Given the description of an element on the screen output the (x, y) to click on. 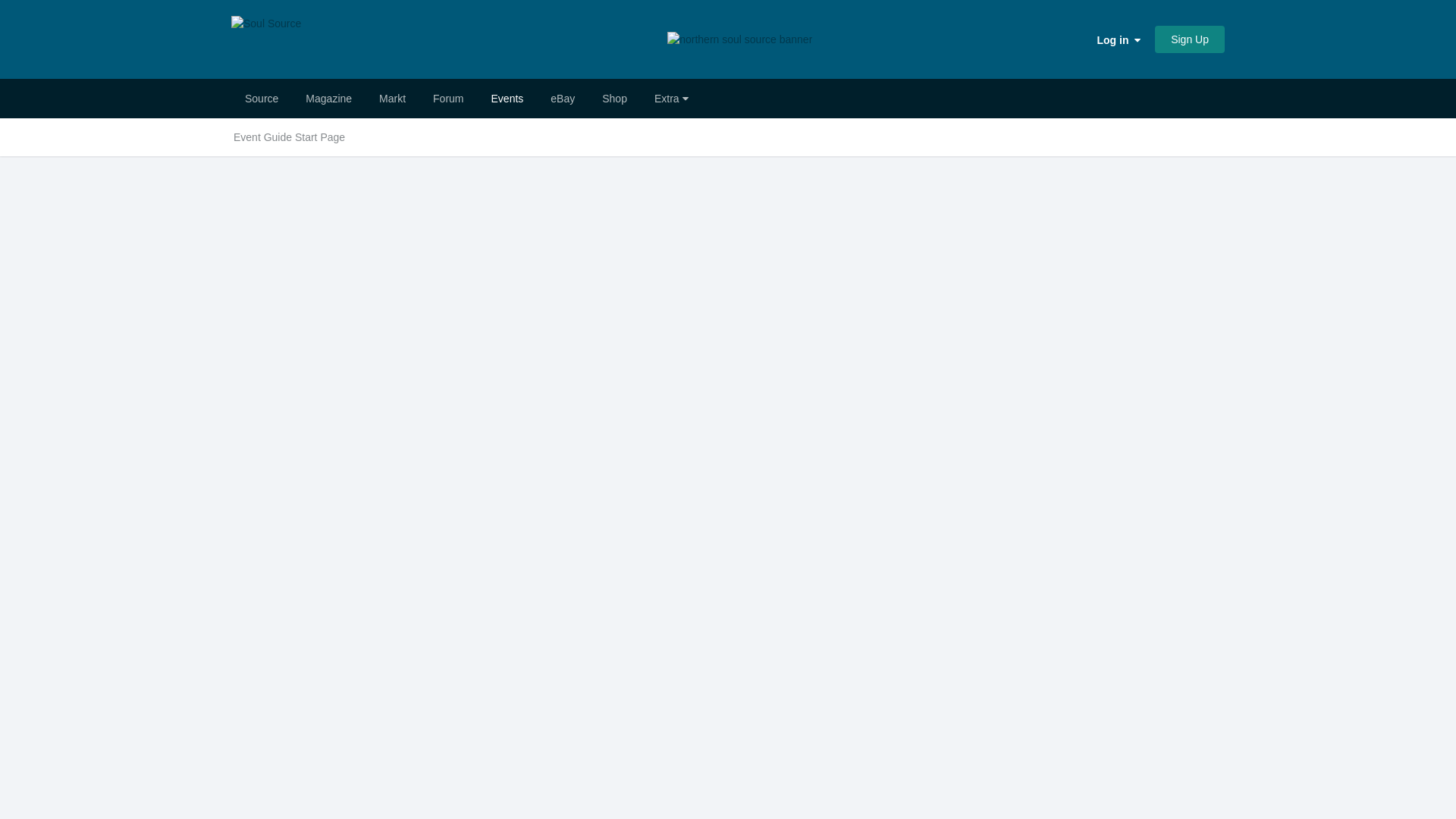
Events (507, 97)
Markt (392, 97)
Shop (614, 97)
Sign Up (1189, 39)
Source (261, 97)
eBay (562, 97)
Forum (448, 97)
Magazine (328, 97)
Log in   (1119, 39)
Extra (670, 97)
